Given the description of an element on the screen output the (x, y) to click on. 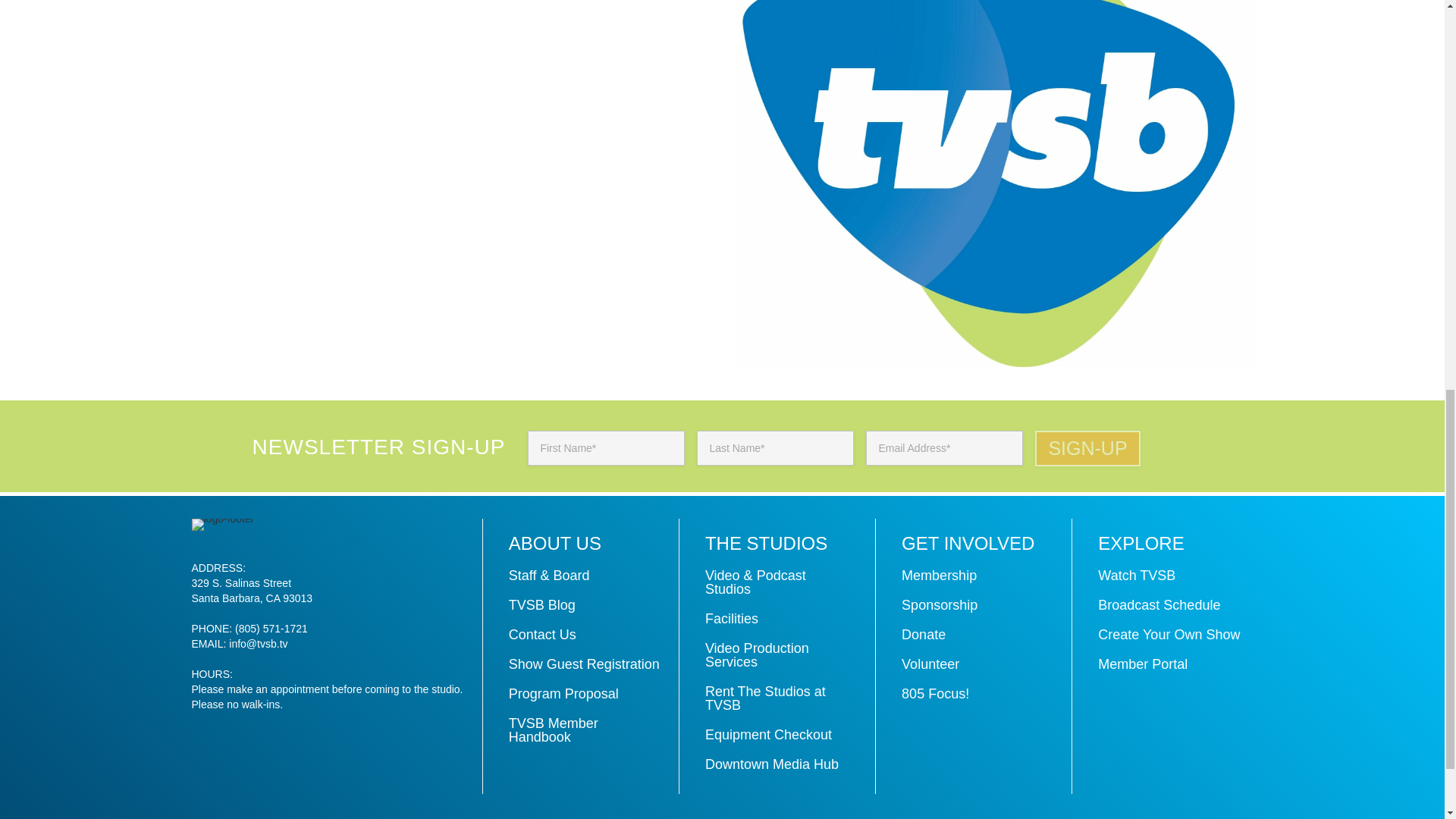
Sign-Up (1087, 448)
The Studios (765, 543)
About Us (554, 543)
Get Involved (967, 543)
Sign-Up (1087, 448)
Explore (1140, 543)
logo-footer (221, 524)
